Given the description of an element on the screen output the (x, y) to click on. 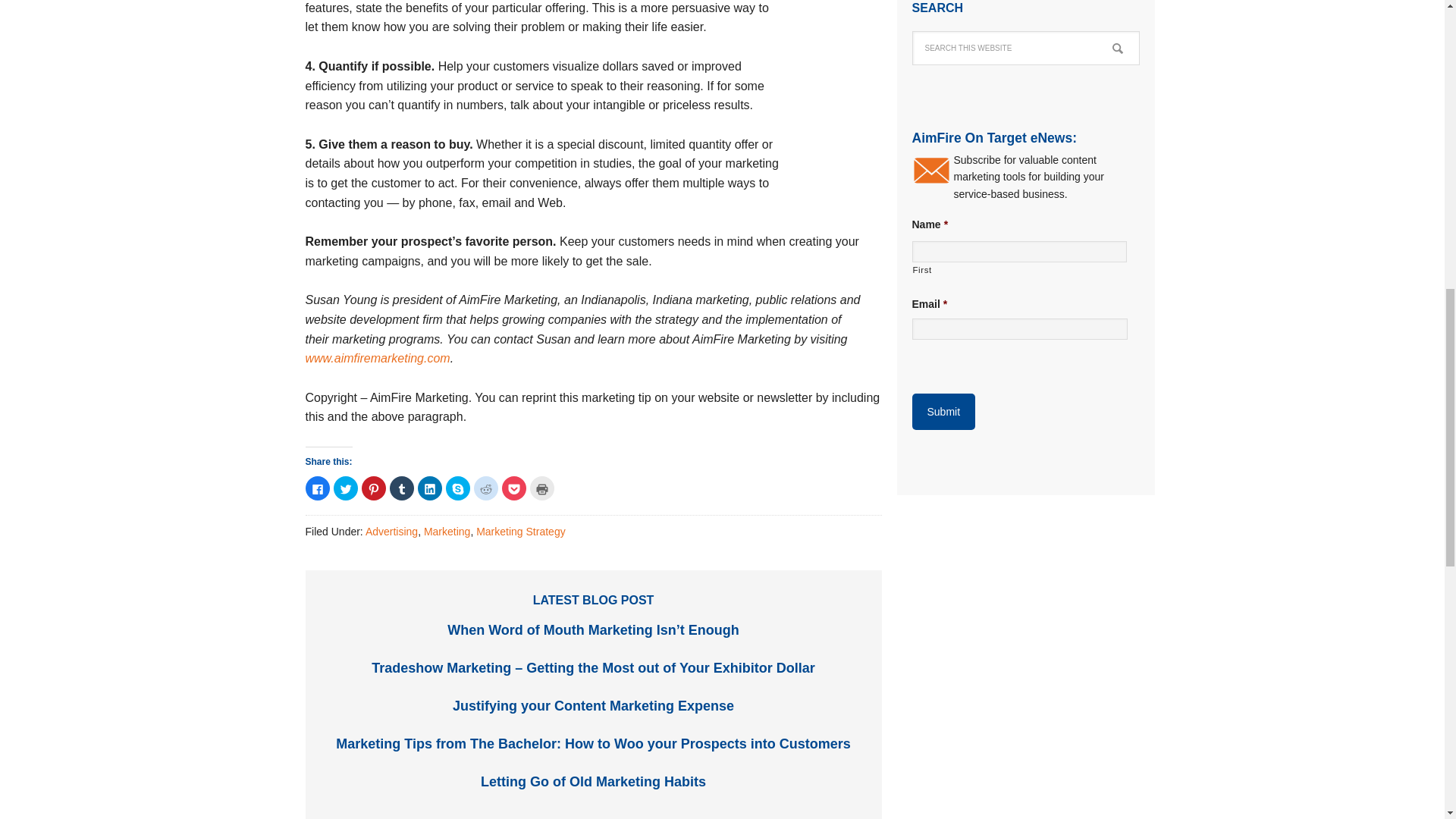
Marketing (446, 531)
Click to share on Reddit (485, 487)
Click to share on Facebook (316, 487)
Click to share on Tumblr (401, 487)
Click to share on Pinterest (373, 487)
Click to print (541, 487)
Click to share on Twitter (345, 487)
Click to share on LinkedIn (428, 487)
Advertising (391, 531)
Submit (943, 411)
Click to share on Pocket (513, 487)
Click to share on Skype (457, 487)
Marketing Strategy (521, 531)
